Given the description of an element on the screen output the (x, y) to click on. 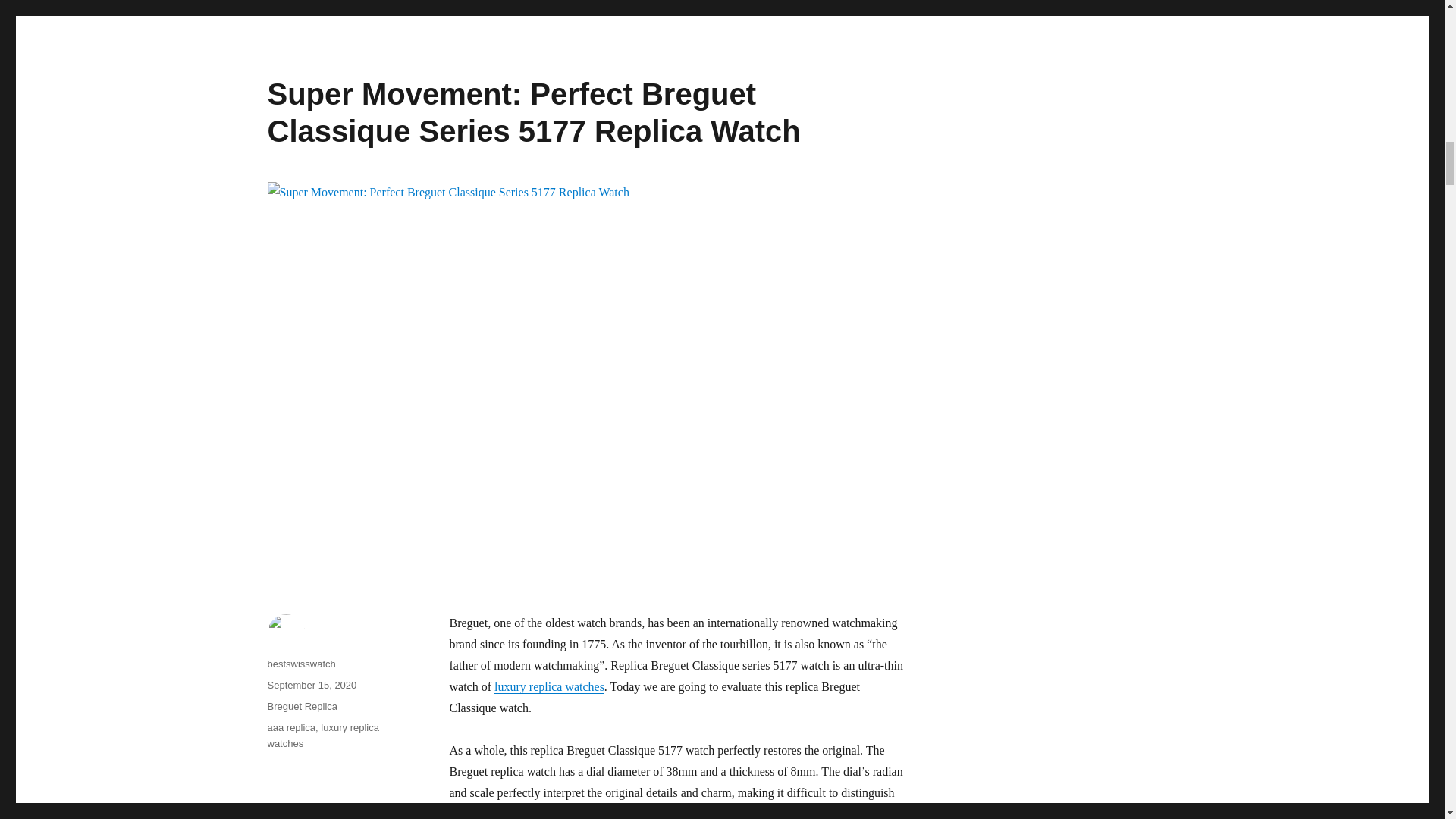
bestswisswatch (300, 663)
Breguet Replica (301, 706)
luxury replica watches (549, 686)
aaa replica (290, 727)
luxury replica watches (322, 735)
September 15, 2020 (311, 685)
